Given the description of an element on the screen output the (x, y) to click on. 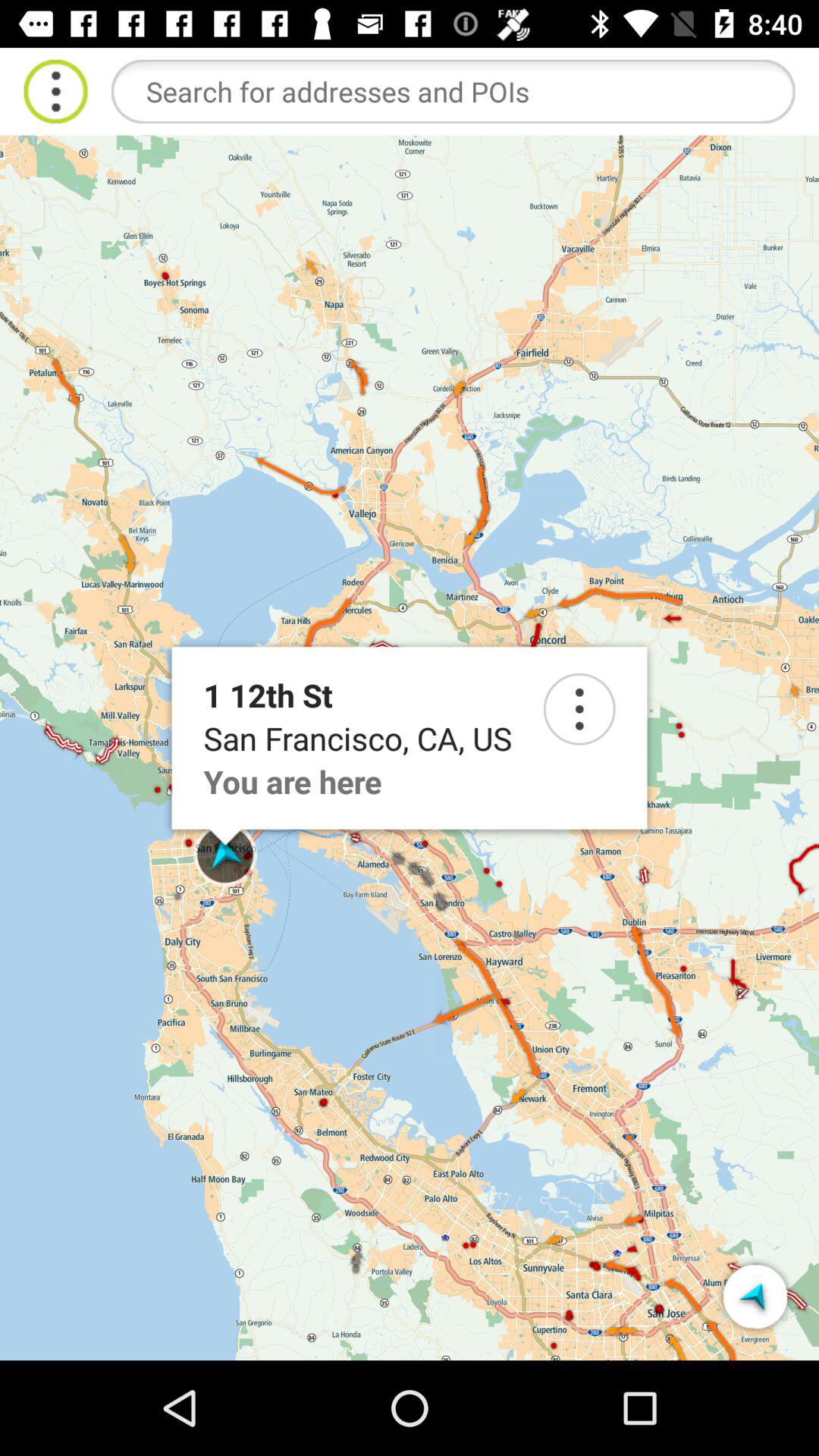
start tracking driving progress (755, 1296)
